Given the description of an element on the screen output the (x, y) to click on. 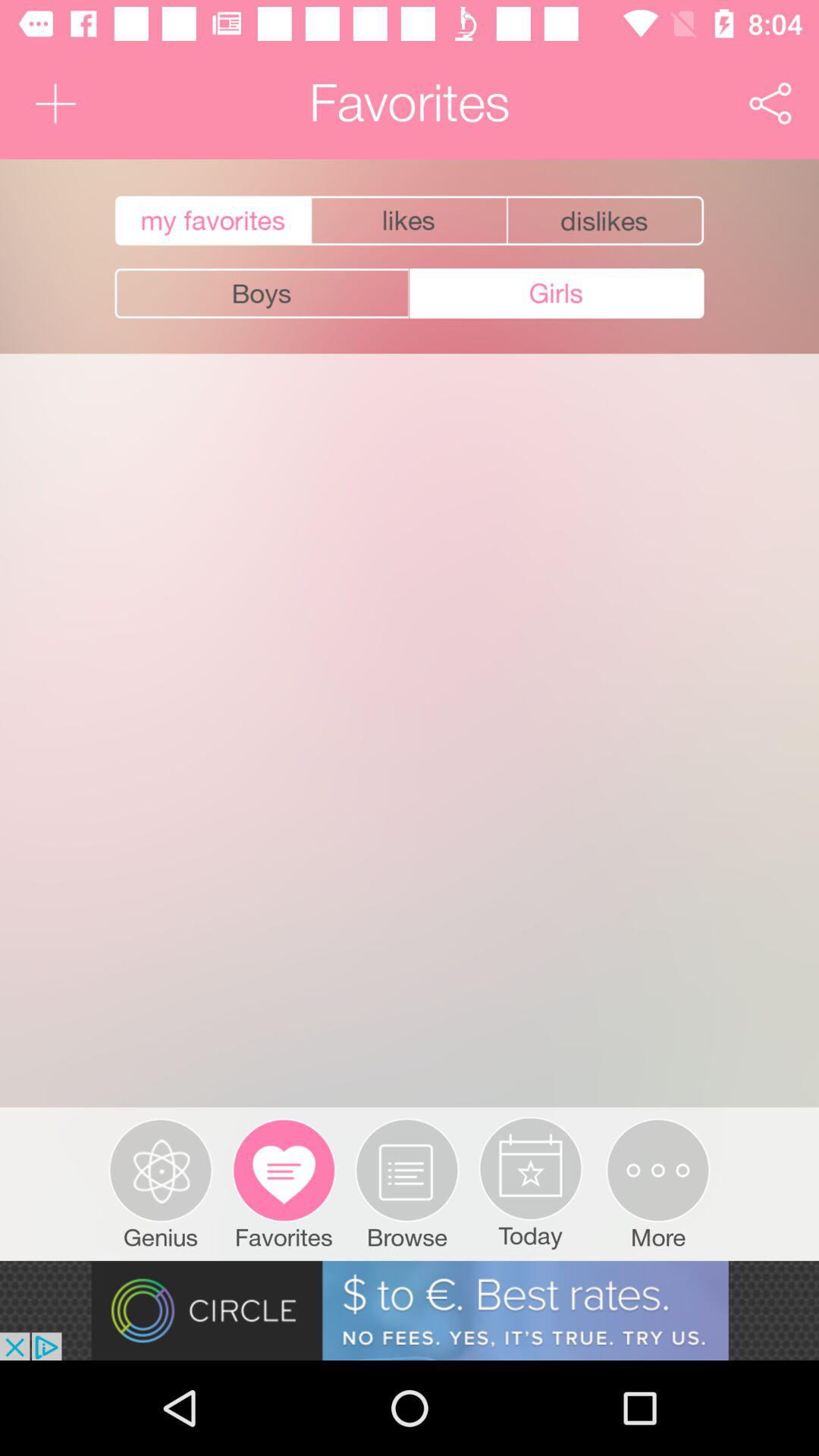
favourite options (606, 220)
